Given the description of an element on the screen output the (x, y) to click on. 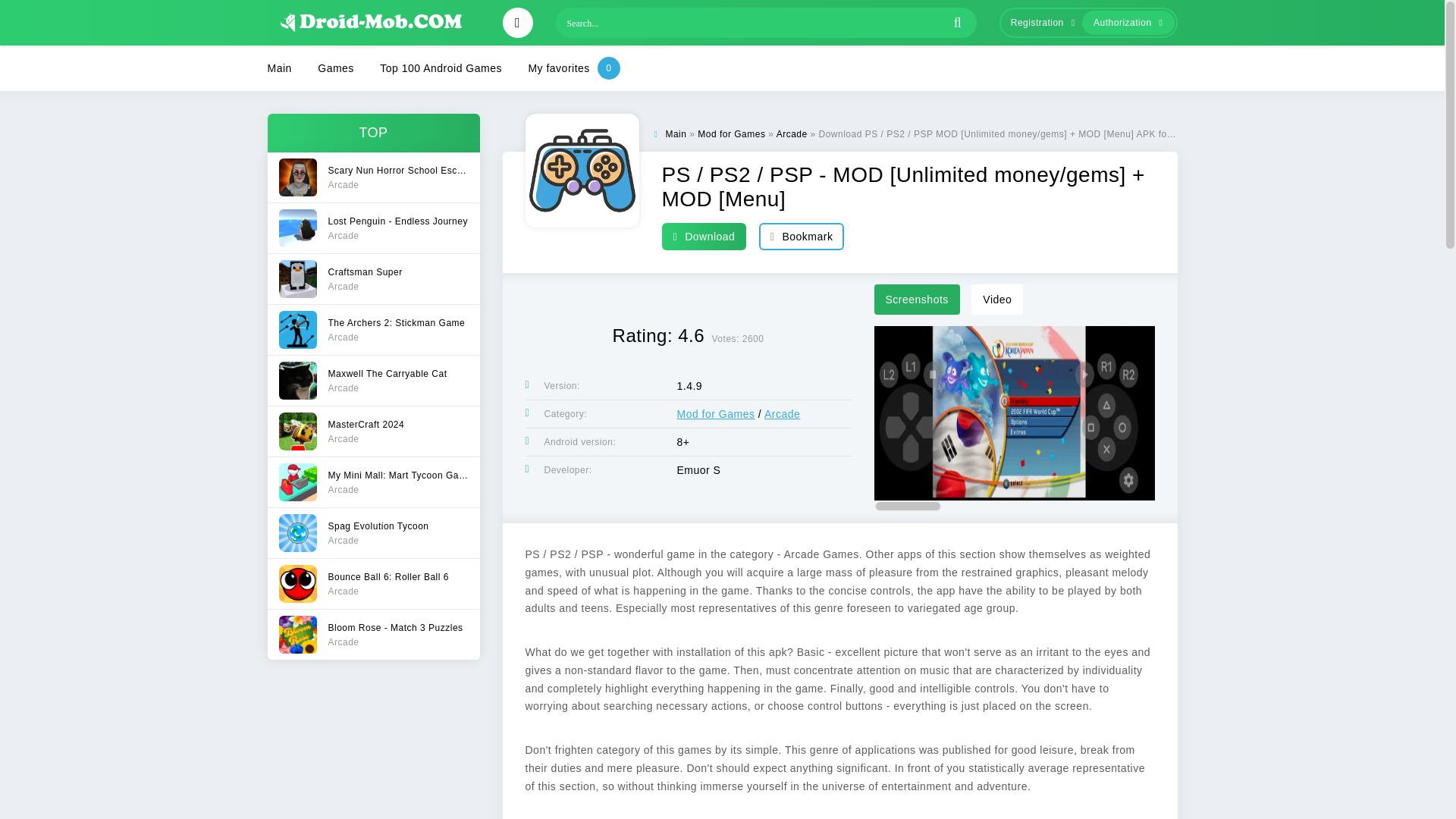
Arcade (372, 379)
Registration (372, 583)
Mod for Games (792, 133)
Mod for Games (372, 531)
